Given the description of an element on the screen output the (x, y) to click on. 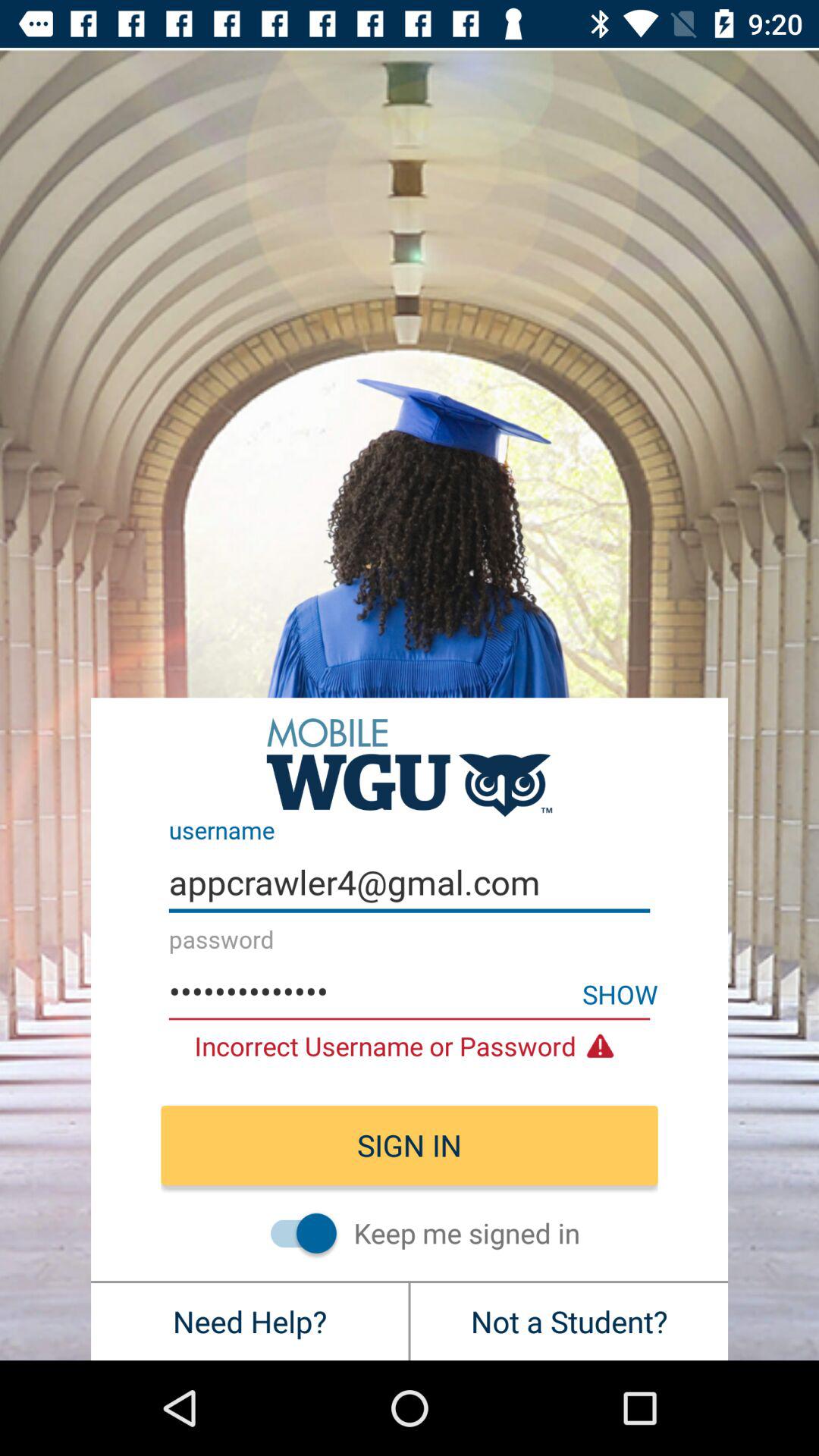
switch off (295, 1232)
